Given the description of an element on the screen output the (x, y) to click on. 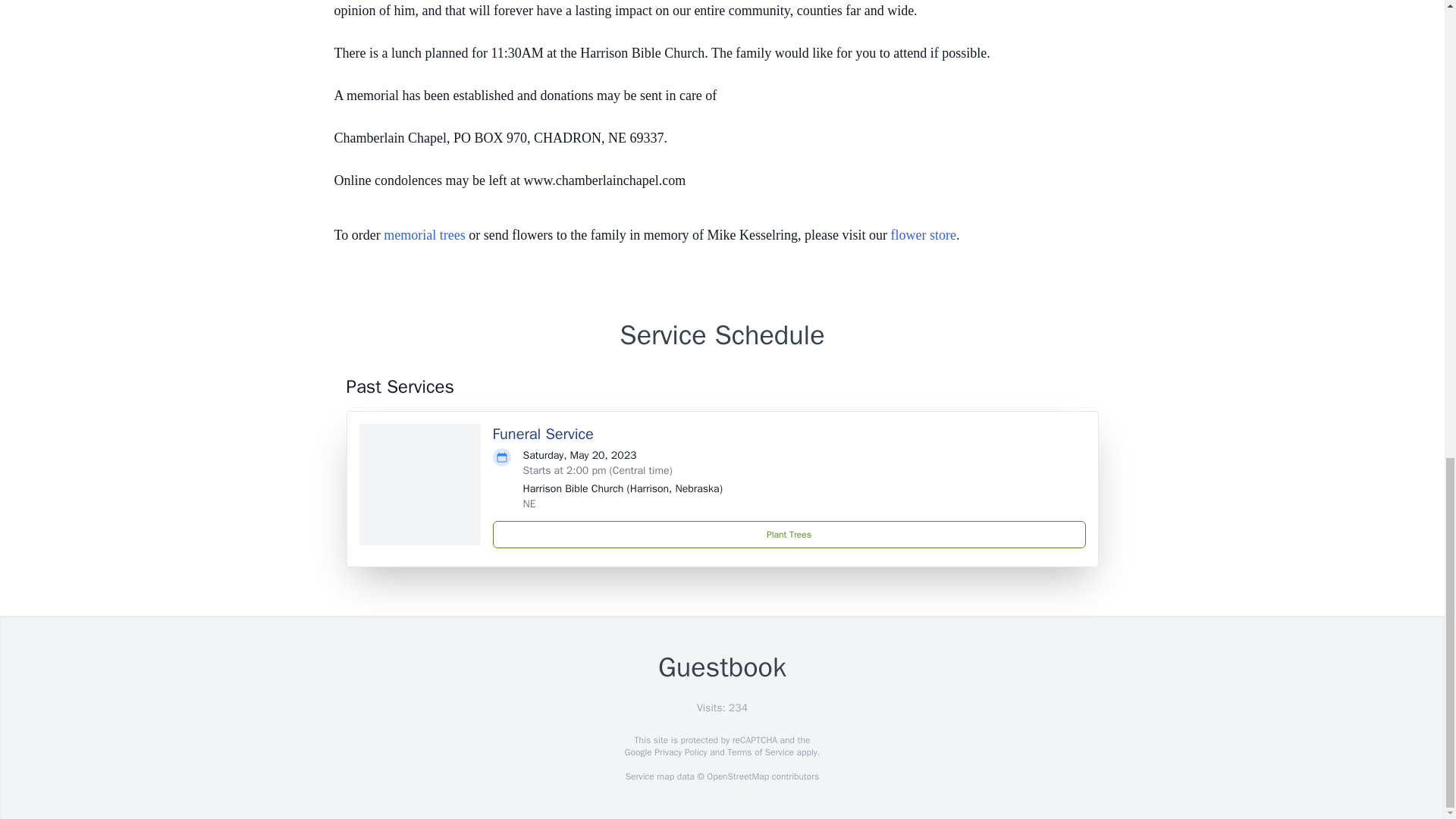
flower store (923, 234)
NE (528, 503)
Privacy Policy (679, 752)
Terms of Service (759, 752)
Plant Trees (789, 533)
OpenStreetMap (737, 776)
memorial trees (424, 234)
